Given the description of an element on the screen output the (x, y) to click on. 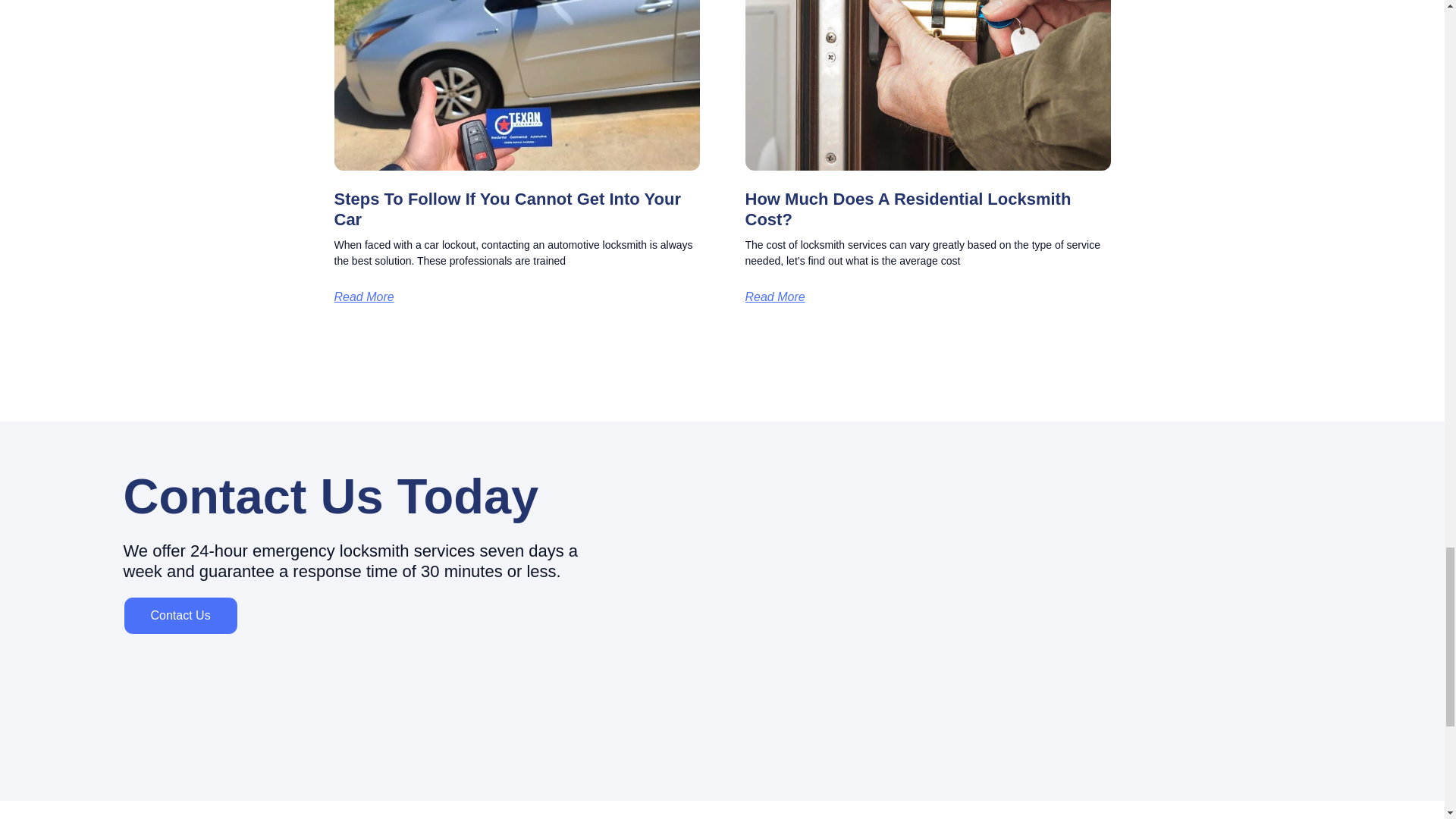
Steps To Follow If You Cannot Get Into Your Car (507, 208)
Contact Us (179, 615)
Read More (774, 296)
Read More (363, 296)
How Much Does A Residential Locksmith Cost? (907, 208)
